Given the description of an element on the screen output the (x, y) to click on. 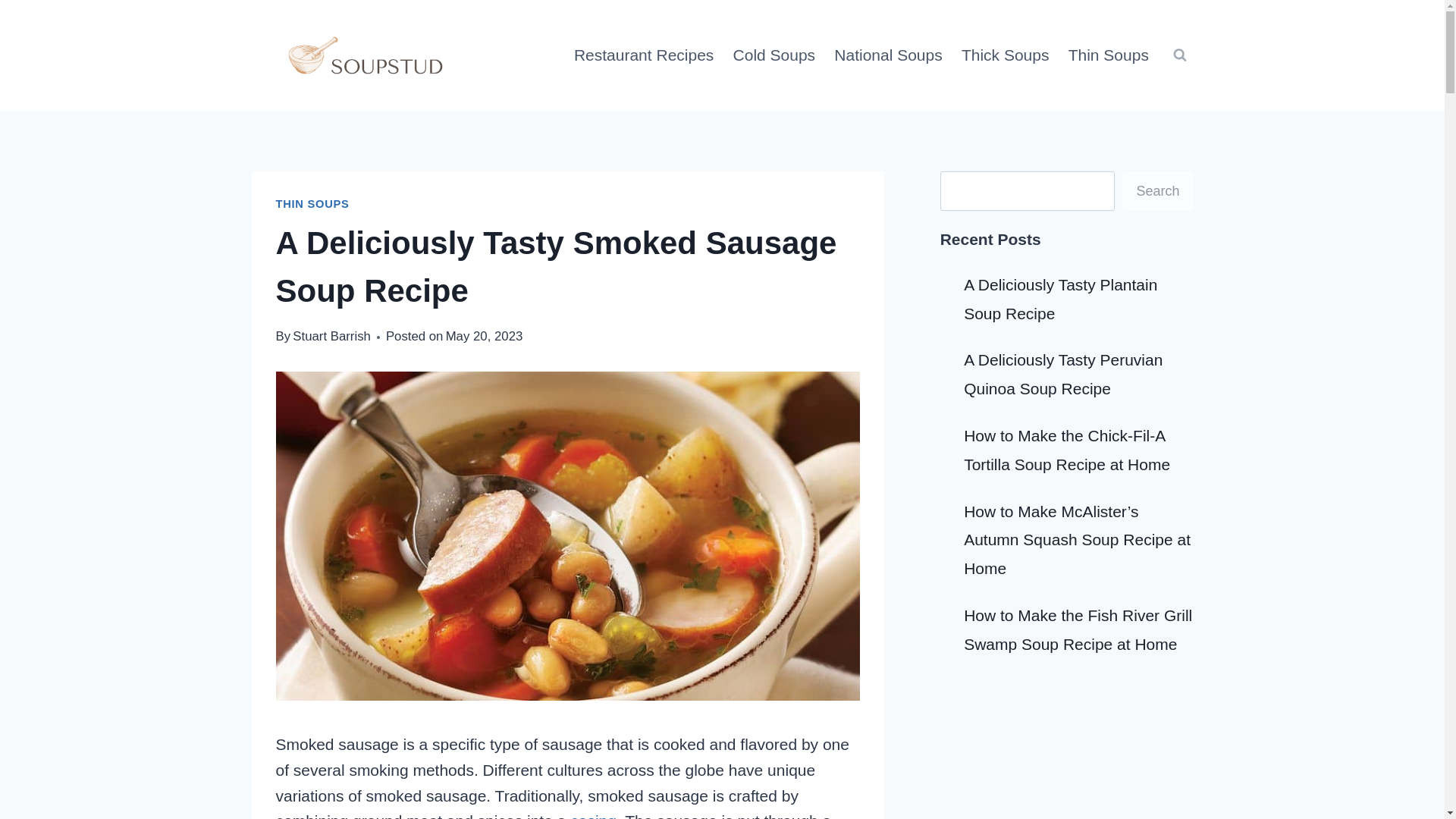
casing (592, 815)
Thin Soups (1107, 55)
Restaurant Recipes (643, 55)
National Soups (888, 55)
Thick Soups (1005, 55)
Cold Soups (774, 55)
Stuart Barrish (331, 336)
THIN SOUPS (312, 203)
